Given the description of an element on the screen output the (x, y) to click on. 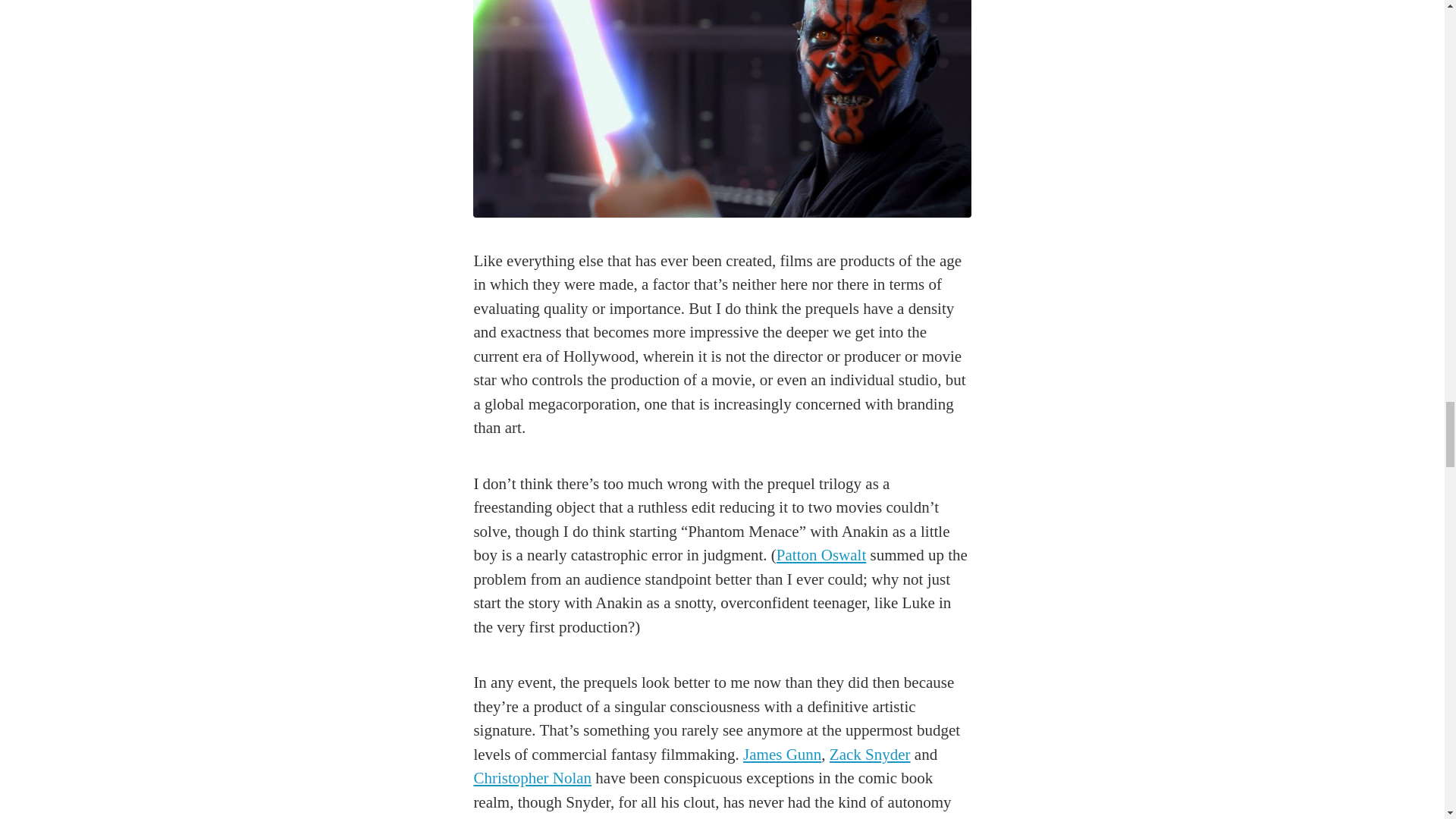
Christopher Nolan (532, 778)
Patton Oswalt (821, 555)
James Gunn (781, 754)
Zack Snyder (870, 754)
